Given the description of an element on the screen output the (x, y) to click on. 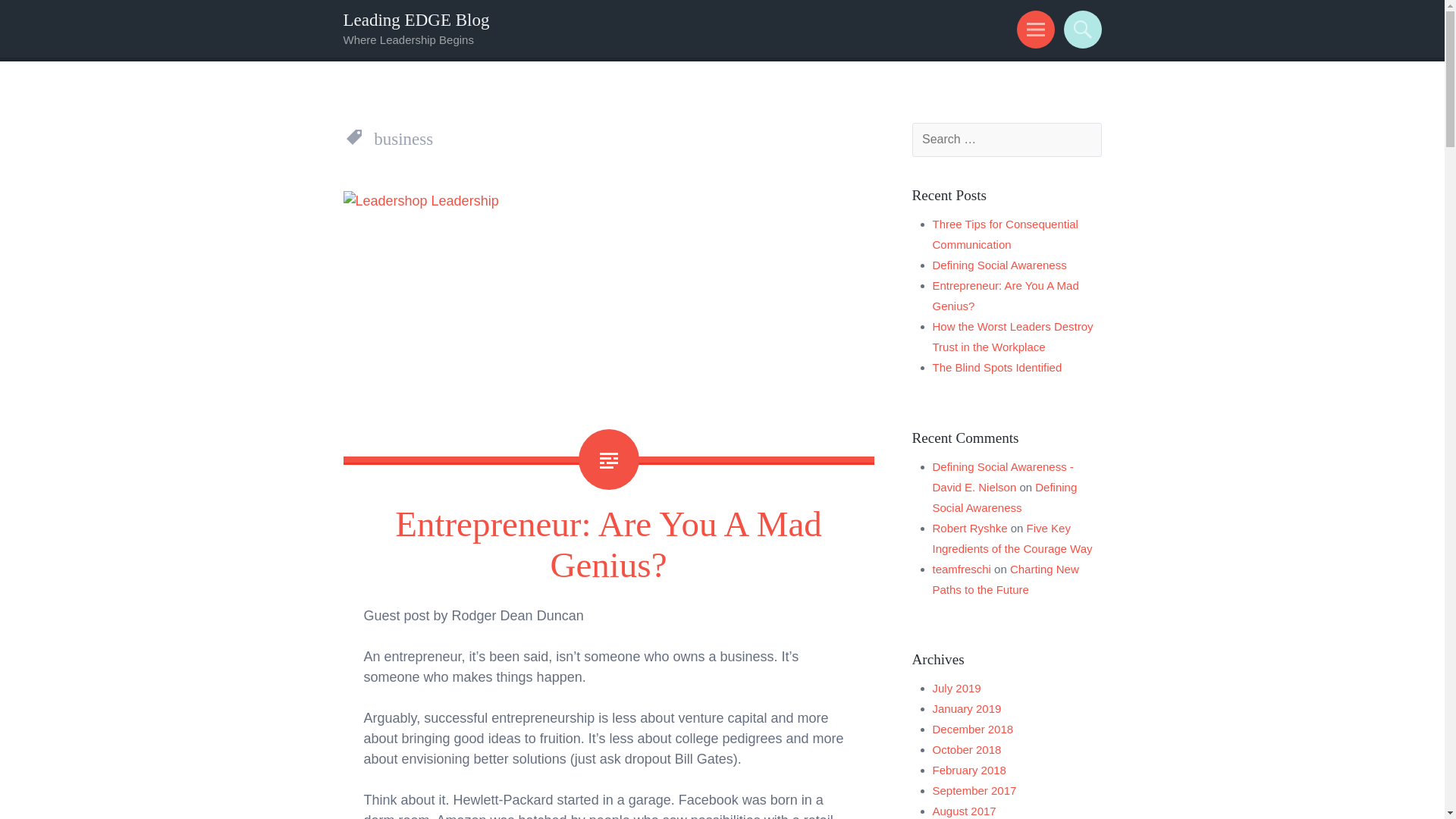
Leading EDGE Blog (415, 19)
Entrepreneur: Are You A Mad Genius? (608, 544)
How the Worst Leaders Destroy Trust in the Workplace (1013, 336)
Entrepreneur: Are You A Mad Genius? (1005, 295)
Defining Social Awareness (1000, 264)
Search (1080, 29)
Menu (1032, 29)
Three Tips for Consequential Communication (1005, 233)
